Given the description of an element on the screen output the (x, y) to click on. 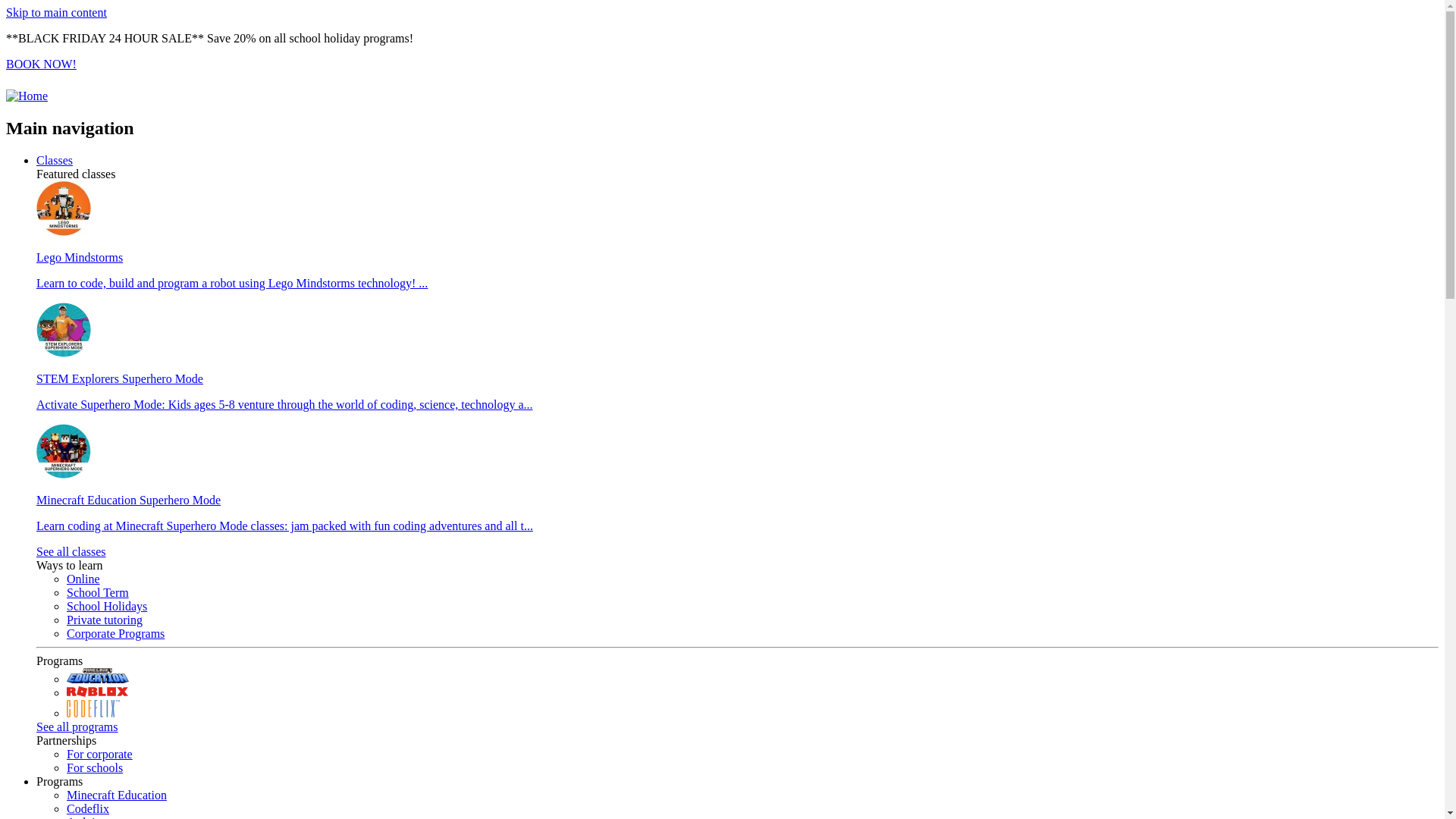
See all classes Element type: text (71, 551)
For schools Element type: text (94, 767)
Corporate Programs Element type: text (115, 633)
For corporate Element type: text (99, 753)
Skip to main content Element type: text (56, 12)
Minecraft Education Element type: text (116, 794)
Codeflix Element type: text (87, 808)
School Holidays Element type: text (106, 605)
Online Element type: text (83, 578)
Private tutoring Element type: text (104, 619)
See all programs Element type: text (77, 726)
School Term Element type: text (97, 592)
BOOK NOW! Element type: text (41, 63)
Classes Element type: text (54, 159)
